Given the description of an element on the screen output the (x, y) to click on. 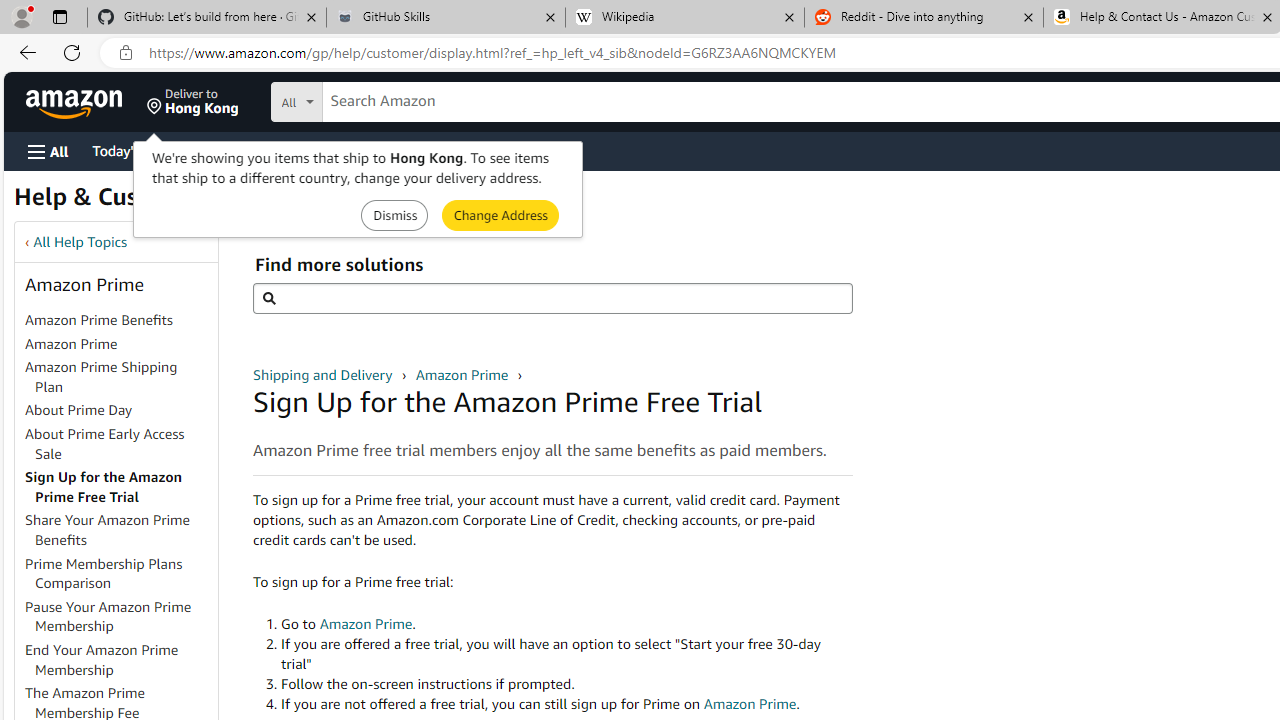
Amazon Prime Benefits (120, 321)
Submit (499, 214)
Sign Up for the Amazon Prime Free Trial (120, 488)
Pause Your Amazon Prime Membership (120, 616)
Find more solutions (552, 297)
Pause Your Amazon Prime Membership (108, 615)
Amazon Prime (71, 343)
Amazon Prime Benefits (98, 320)
Share Your Amazon Prime Benefits (120, 530)
Customer Service (256, 150)
About Prime Day (79, 410)
